Given the description of an element on the screen output the (x, y) to click on. 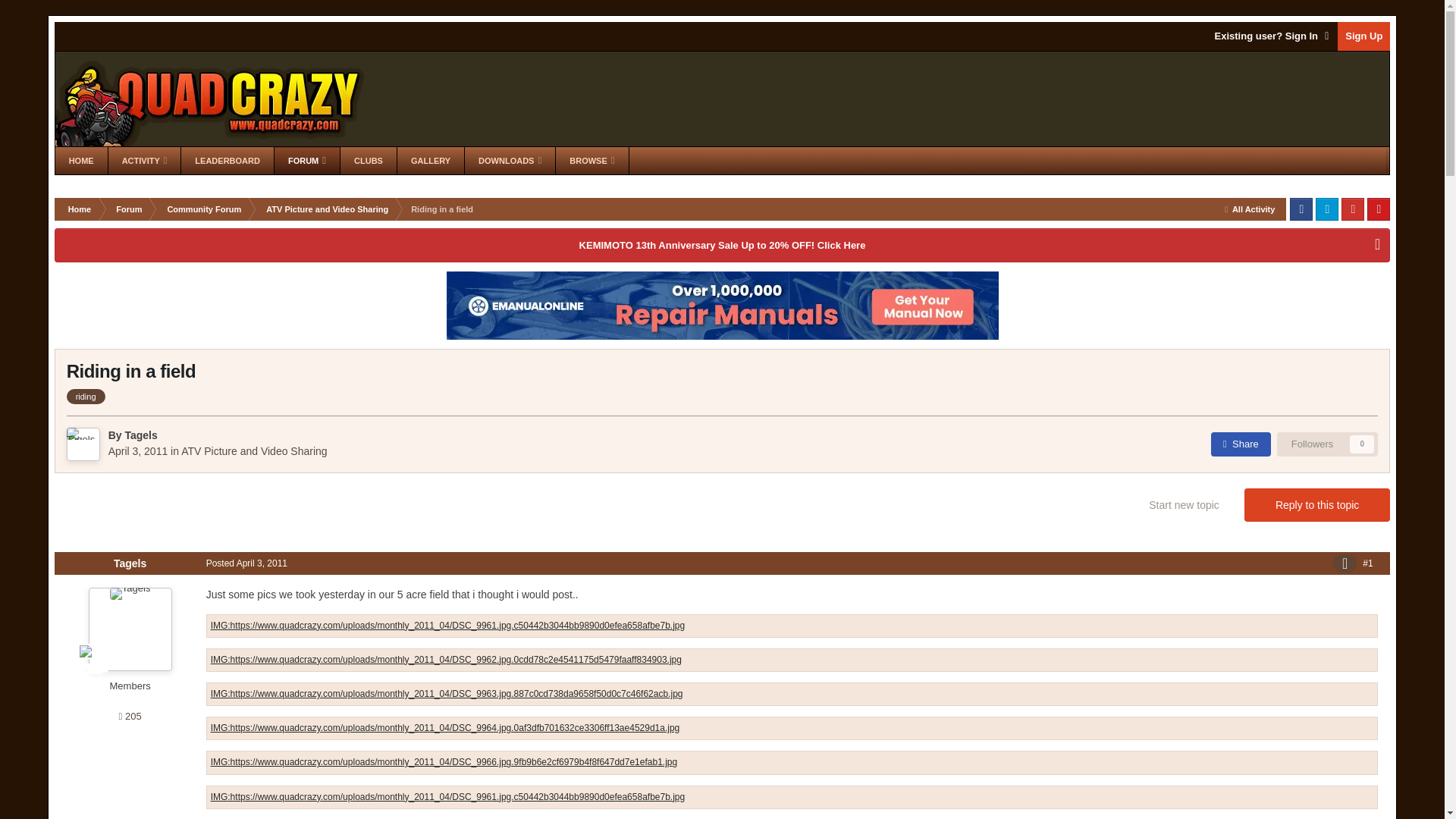
HOME (81, 160)
Existing user? Sign In   (1272, 36)
Sign in to follow this (1327, 444)
Home (79, 208)
ACTIVITY (143, 160)
FORUM (307, 160)
Go to Tagels's profile (140, 435)
Sign Up (1364, 36)
Start a new topic in this forum (1183, 504)
Find other content tagged with 'riding' (85, 396)
